Given the description of an element on the screen output the (x, y) to click on. 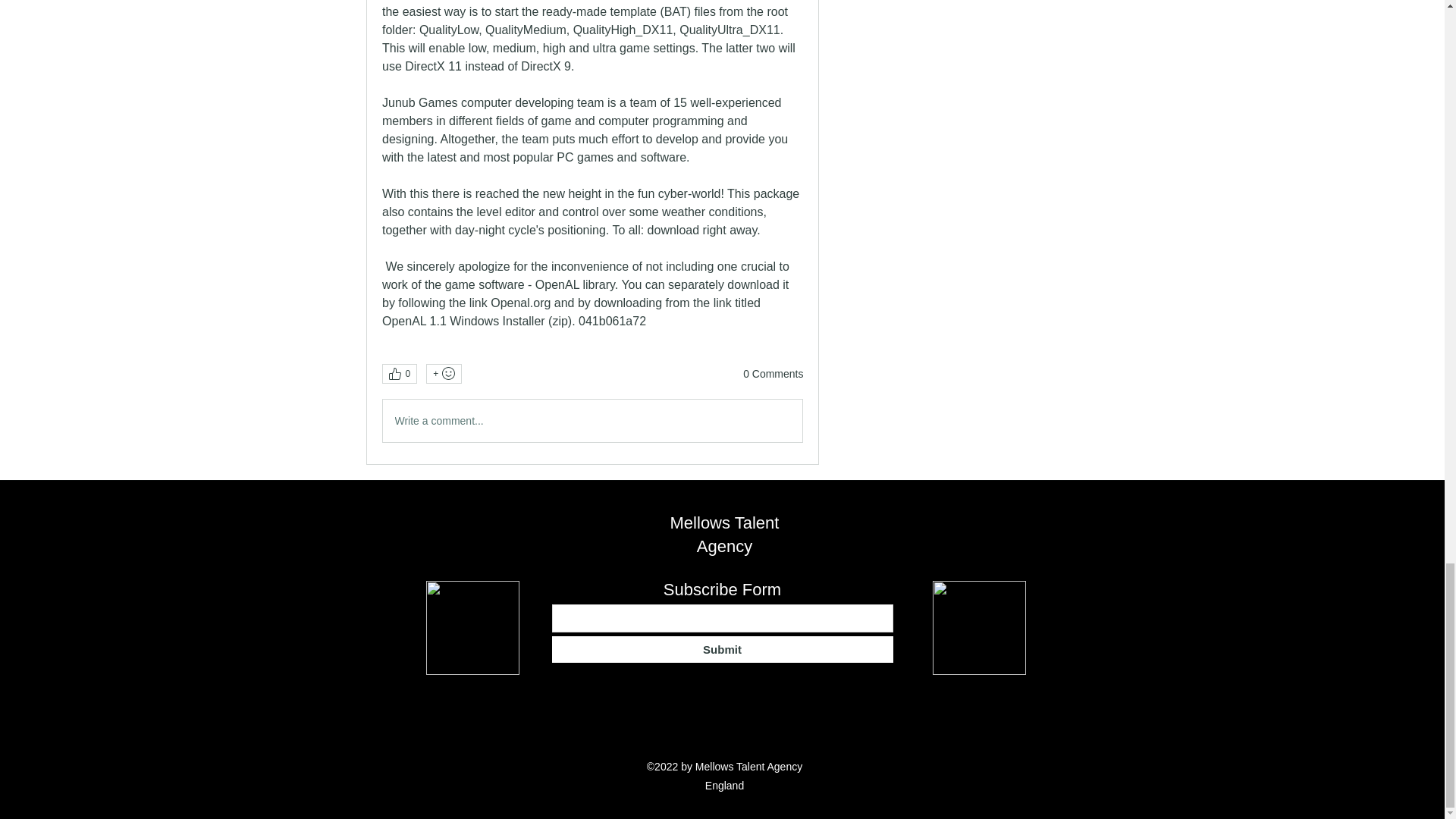
0 Comments (772, 374)
Write a comment... (591, 420)
